Given the description of an element on the screen output the (x, y) to click on. 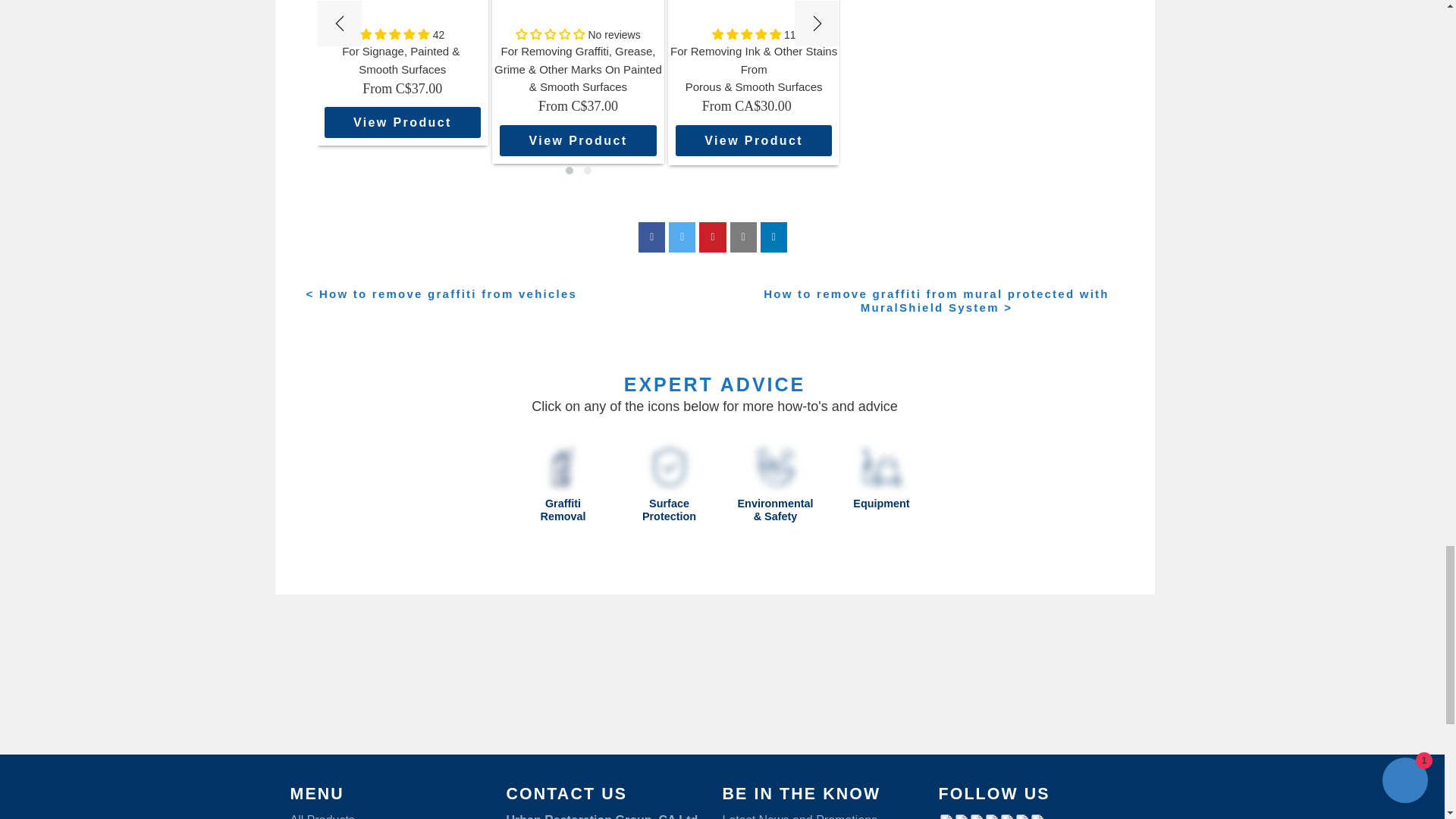
Graffiti Removal (562, 466)
